Given the description of an element on the screen output the (x, y) to click on. 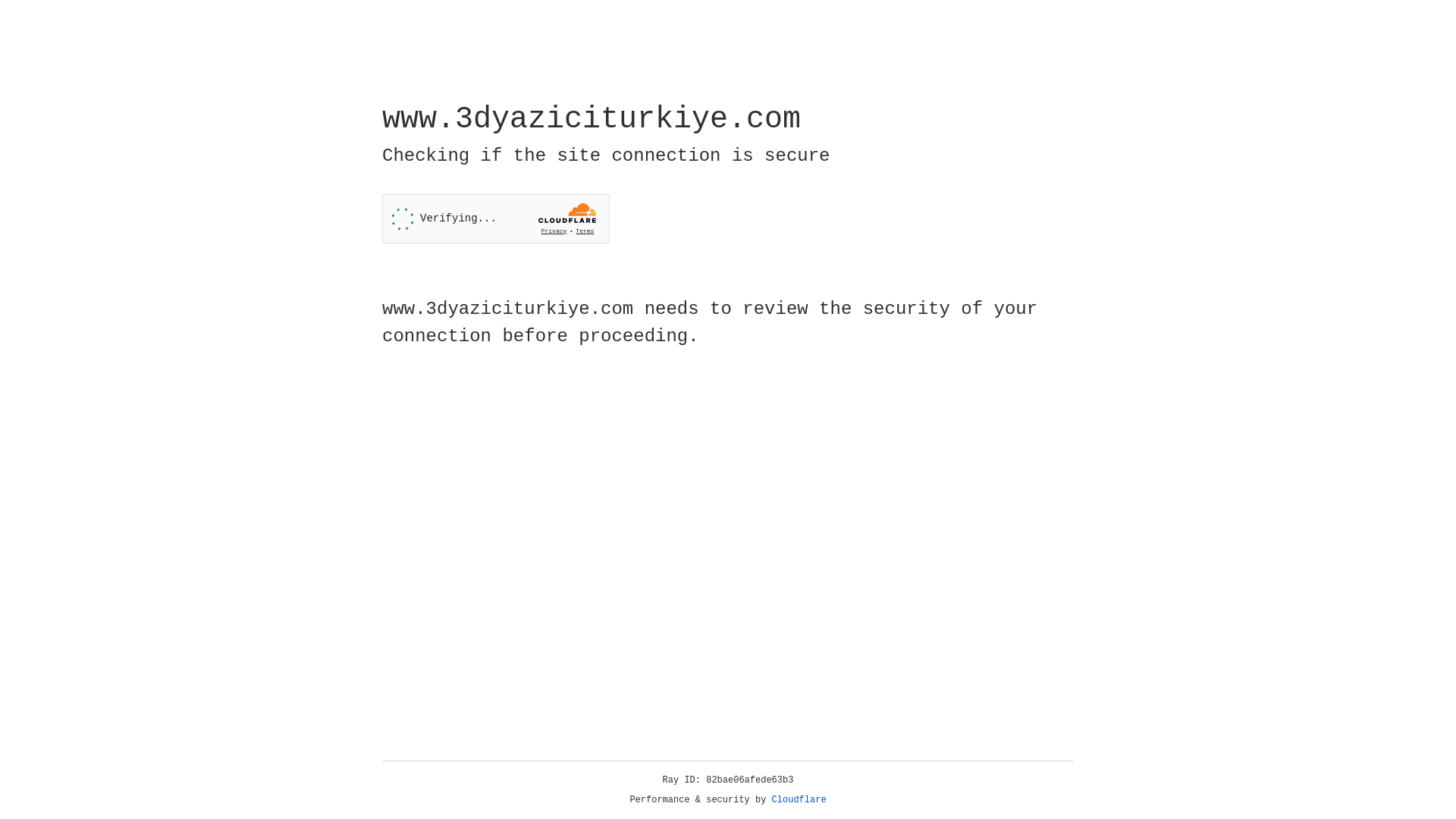
Cloudflare Element type: text (798, 799)
Widget containing a Cloudflare security challenge Element type: hover (495, 218)
